Given the description of an element on the screen output the (x, y) to click on. 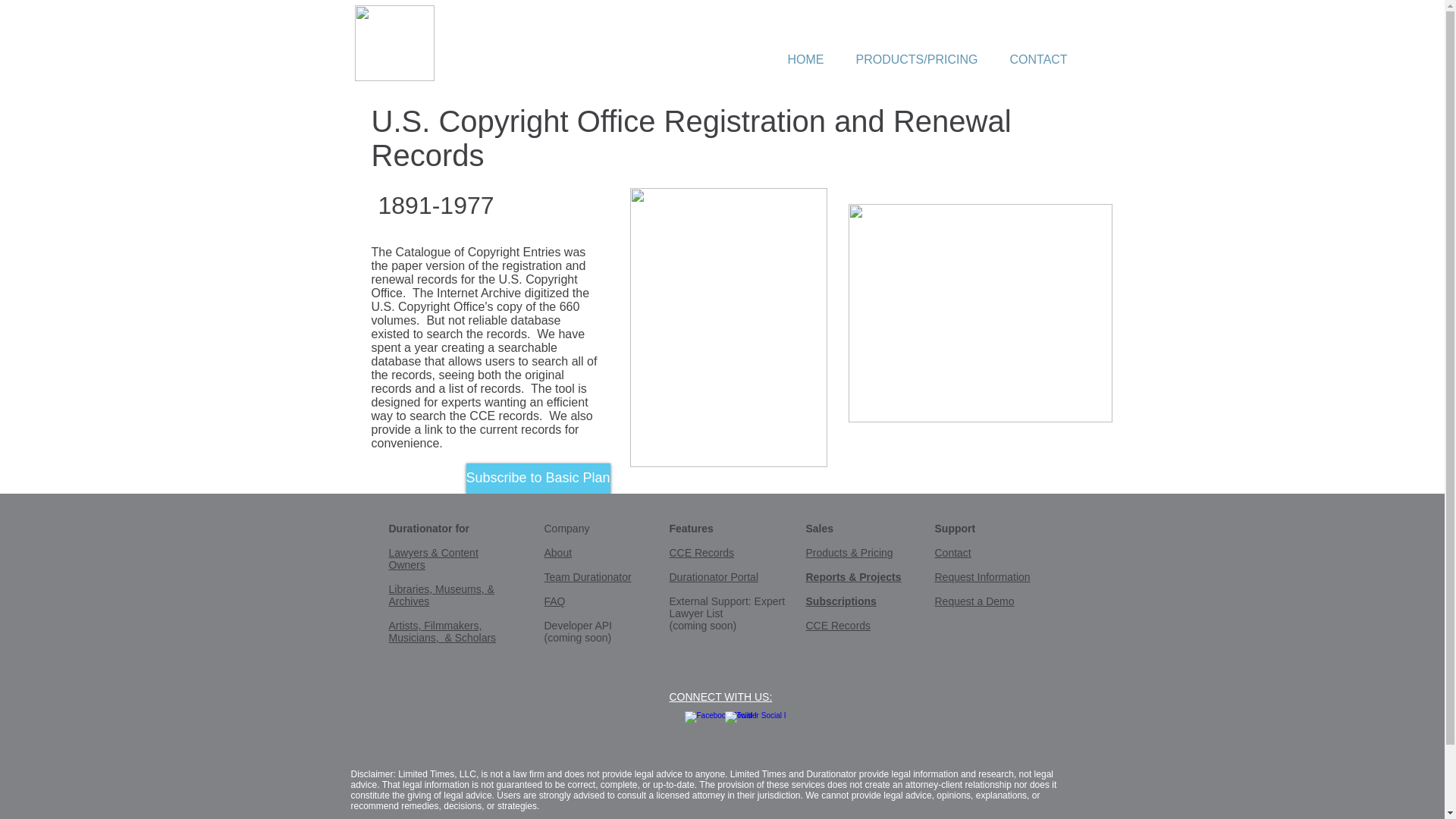
CCE Records (837, 625)
CONNECT WITH US: (719, 696)
HOME (805, 60)
Durationator Portal (713, 576)
Request a Demo (973, 601)
About (558, 552)
Museums, (459, 589)
CCE Records (700, 552)
Libraries, (410, 589)
Contact (952, 552)
